Given the description of an element on the screen output the (x, y) to click on. 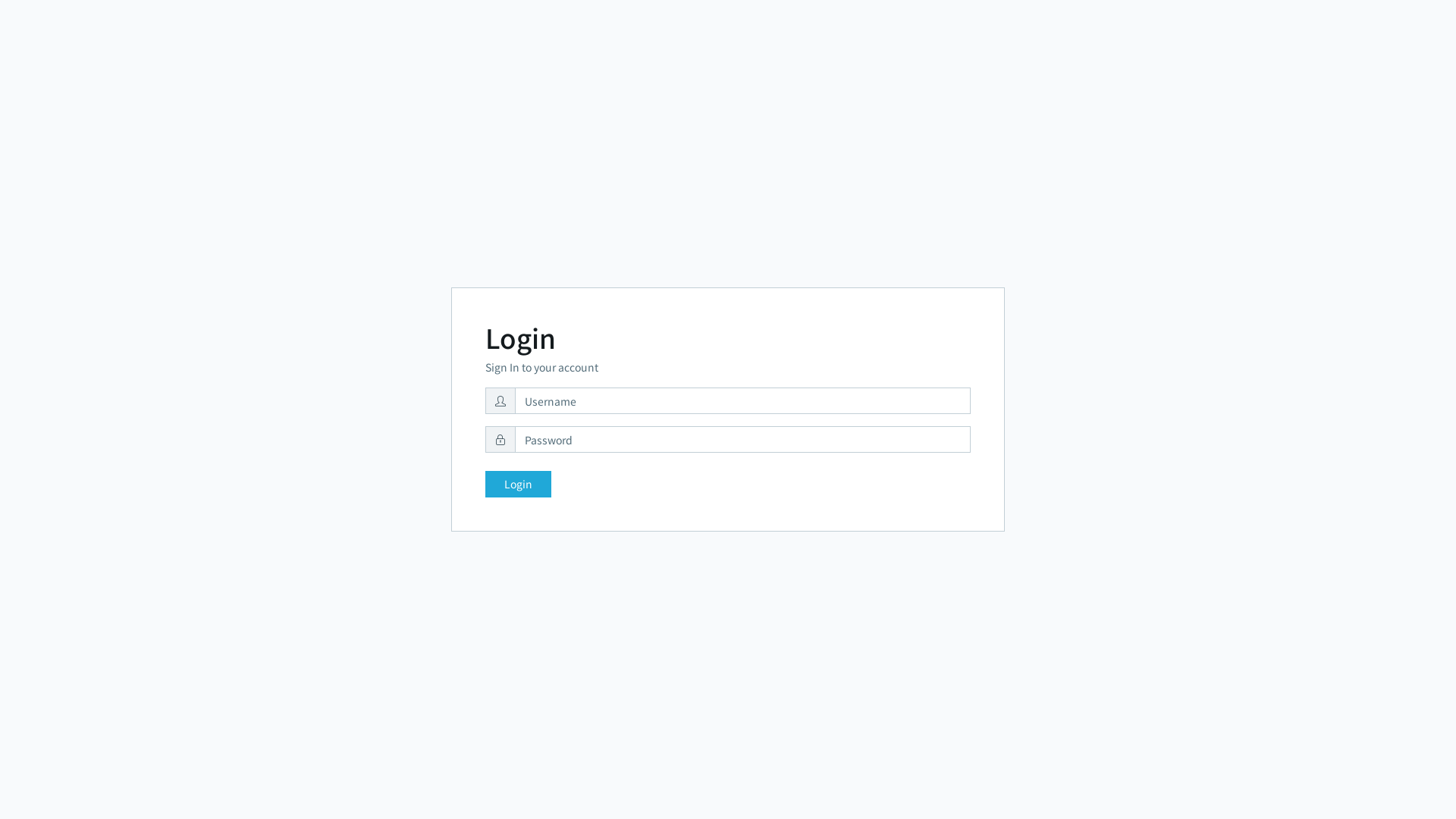
Login Element type: text (518, 483)
